Given the description of an element on the screen output the (x, y) to click on. 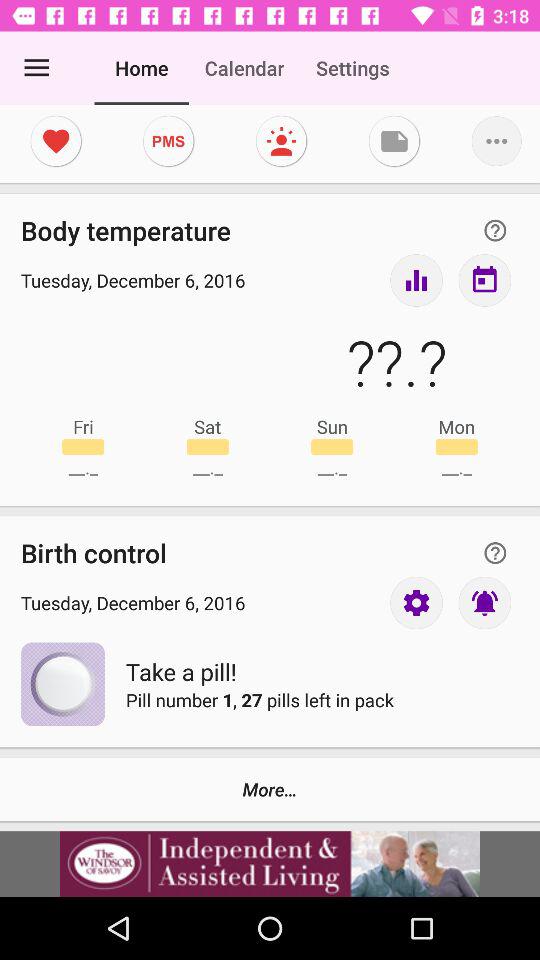
add to favorite (56, 141)
